Given the description of an element on the screen output the (x, y) to click on. 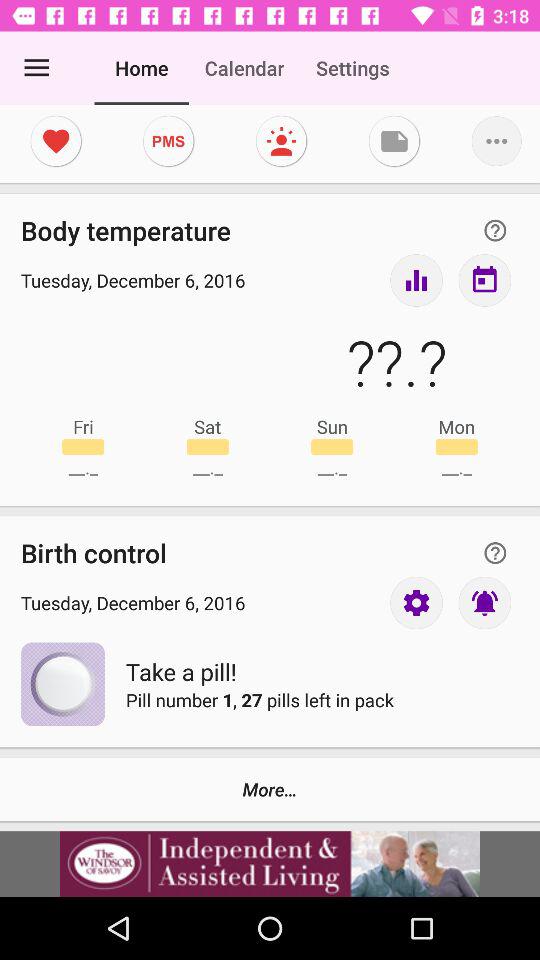
add to favorite (56, 141)
